Given the description of an element on the screen output the (x, y) to click on. 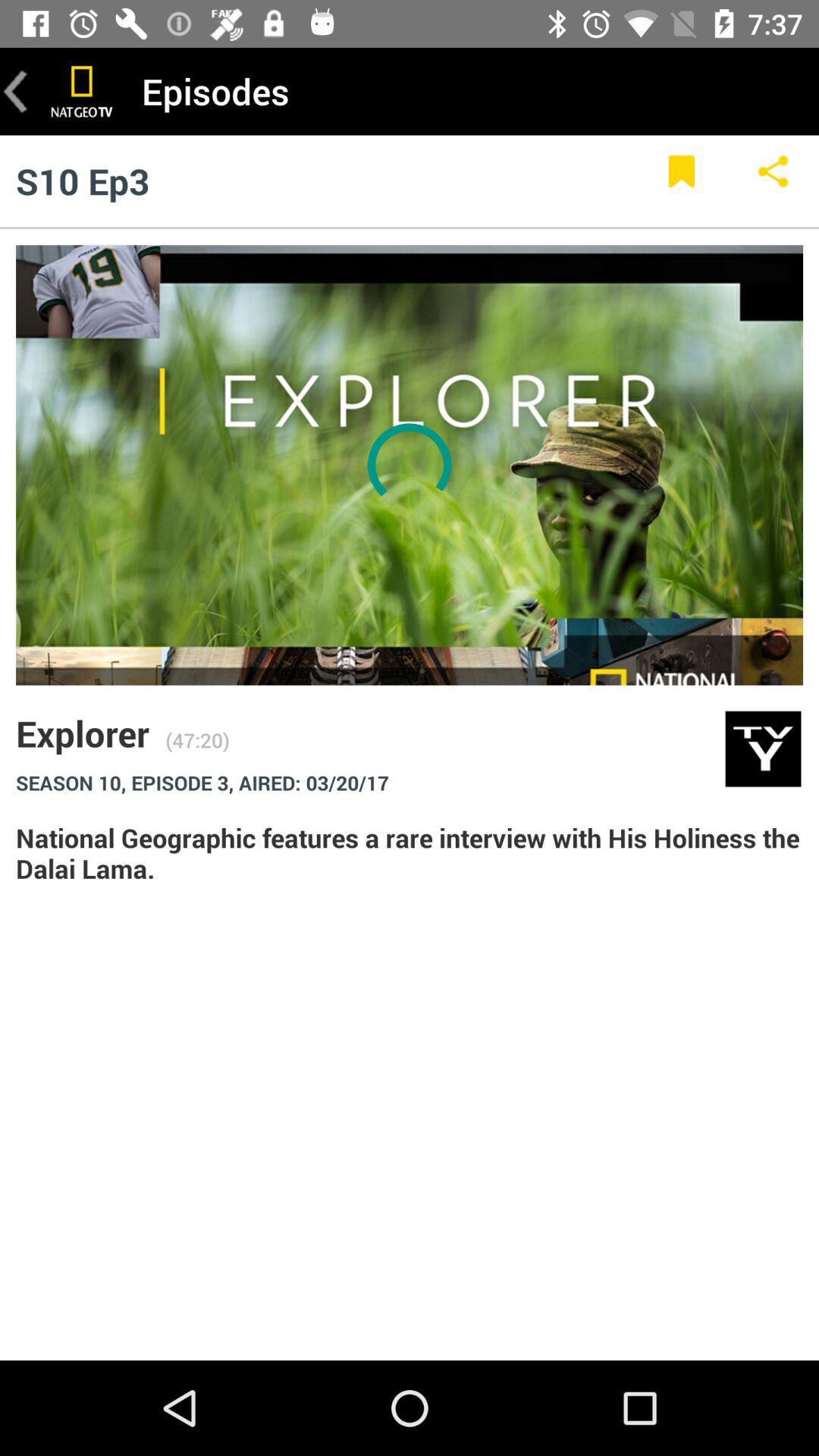
go back (15, 91)
